Given the description of an element on the screen output the (x, y) to click on. 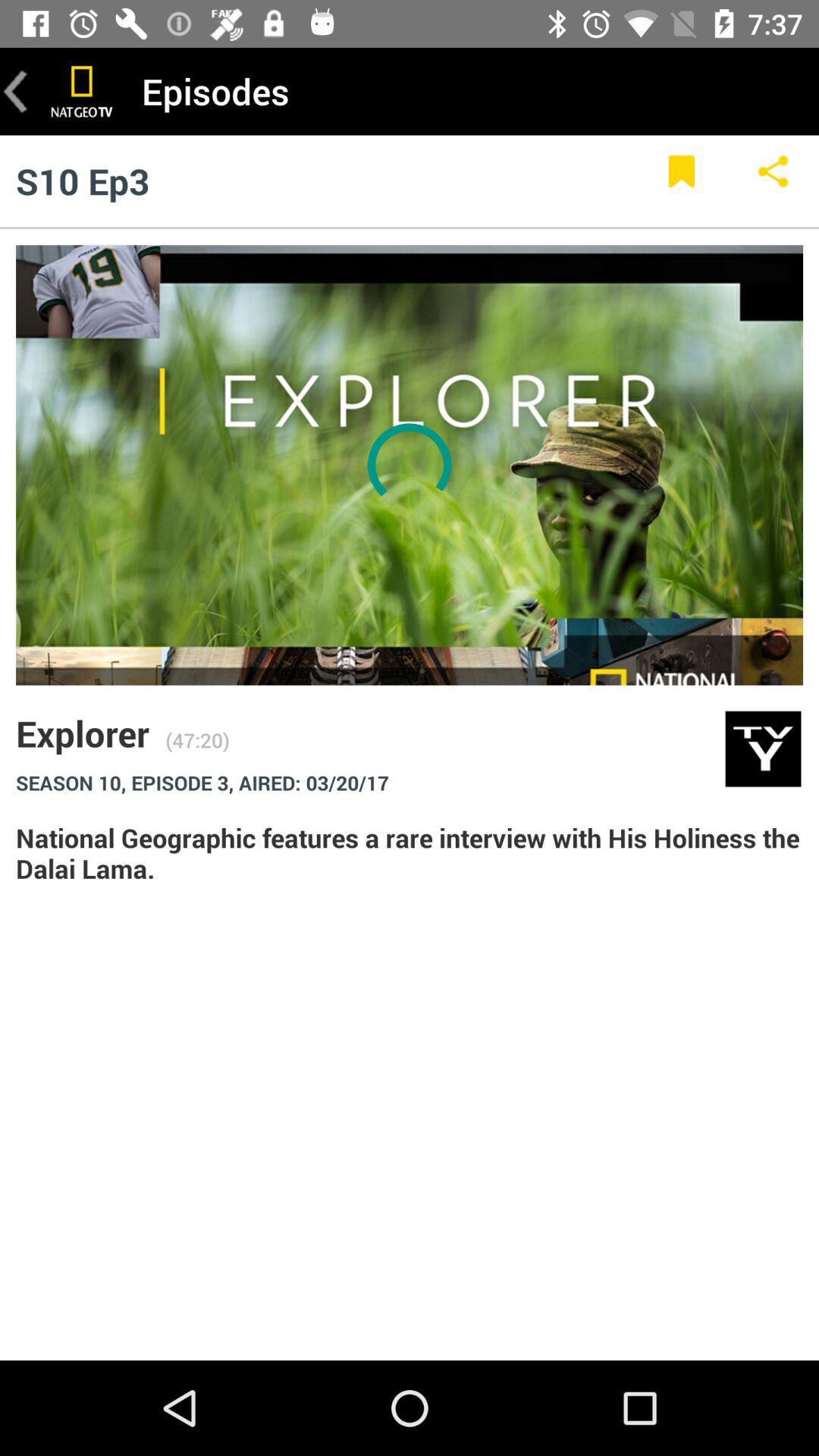
go back (15, 91)
